Given the description of an element on the screen output the (x, y) to click on. 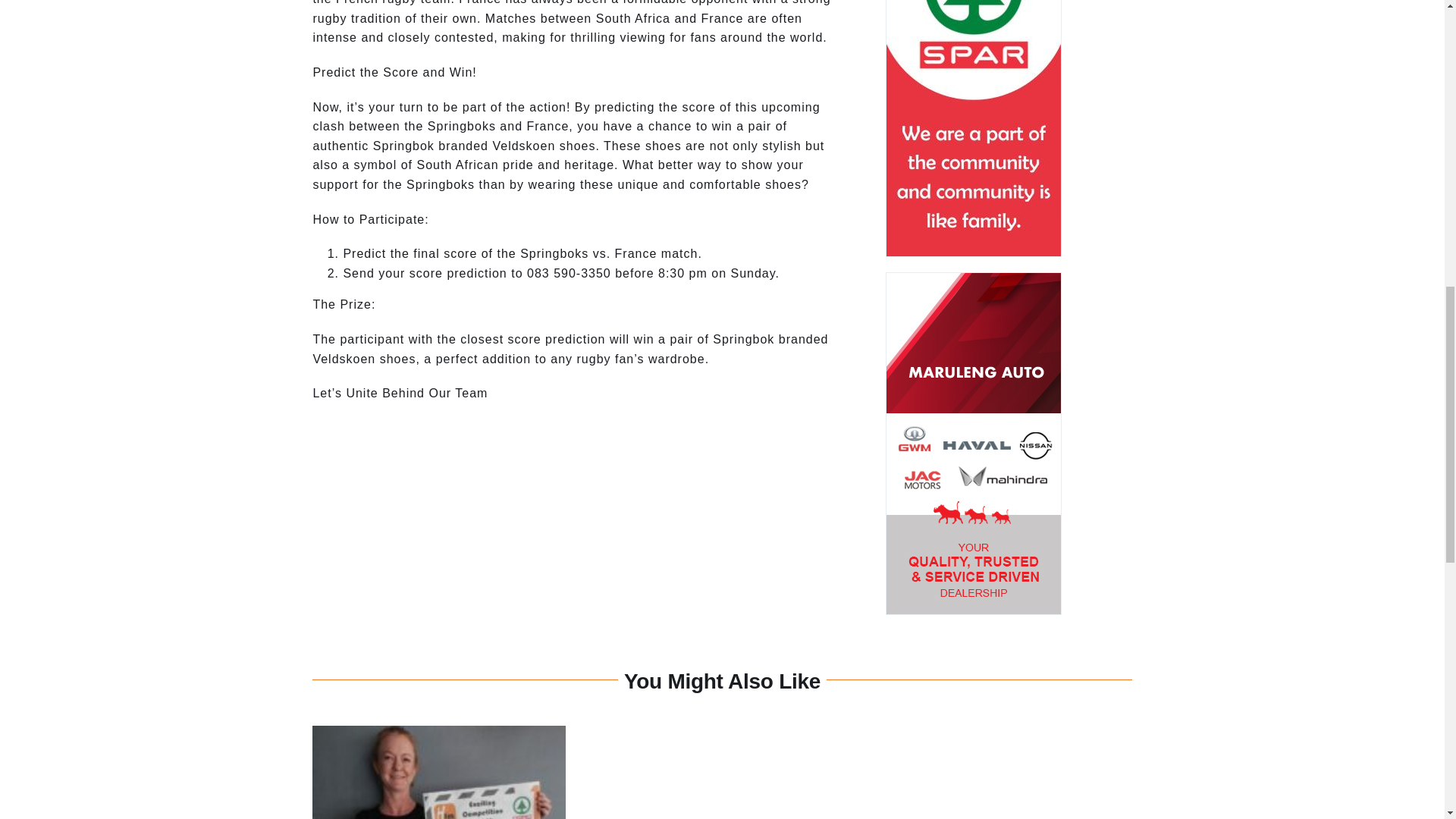
WhatsApp Image 2023-10-09 at 10.23.55 (438, 772)
